Given the description of an element on the screen output the (x, y) to click on. 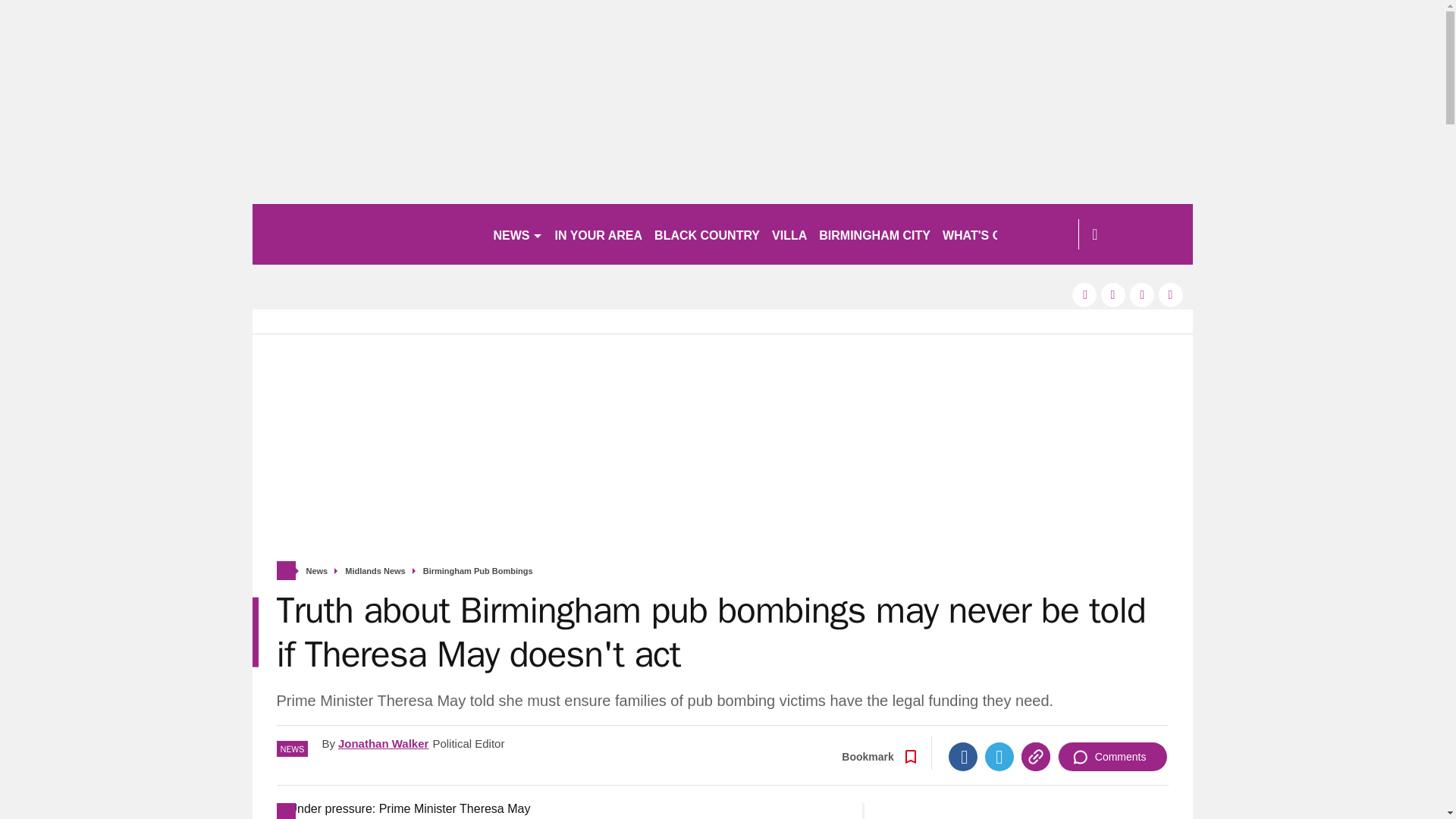
WHAT'S ON (982, 233)
NEWS (517, 233)
tiktok (1141, 294)
Comments (1112, 756)
twitter (1112, 294)
Twitter (999, 756)
BLACK COUNTRY (706, 233)
IN YOUR AREA (598, 233)
Facebook (962, 756)
BIRMINGHAM CITY (874, 233)
birminghammail (365, 233)
instagram (1170, 294)
facebook (1083, 294)
